Given the description of an element on the screen output the (x, y) to click on. 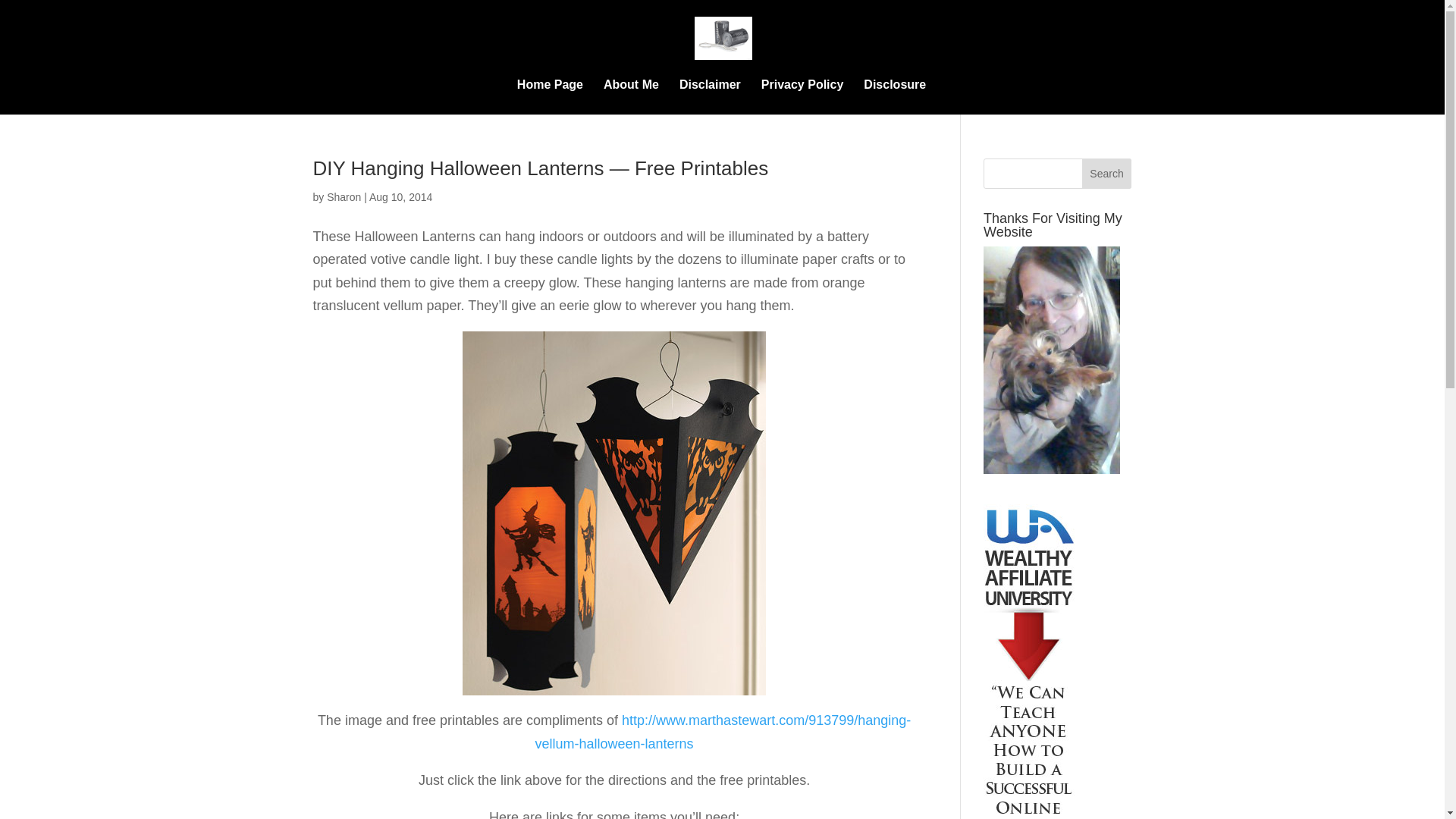
Posts by Sharon (343, 196)
Disclosure (894, 96)
Home Page (549, 96)
Sharon (343, 196)
Disclaimer (710, 96)
Search (1106, 173)
Two Cans On A String Blog (549, 96)
Search (1106, 173)
Privacy Policy (802, 96)
About Me (631, 96)
